Given the description of an element on the screen output the (x, y) to click on. 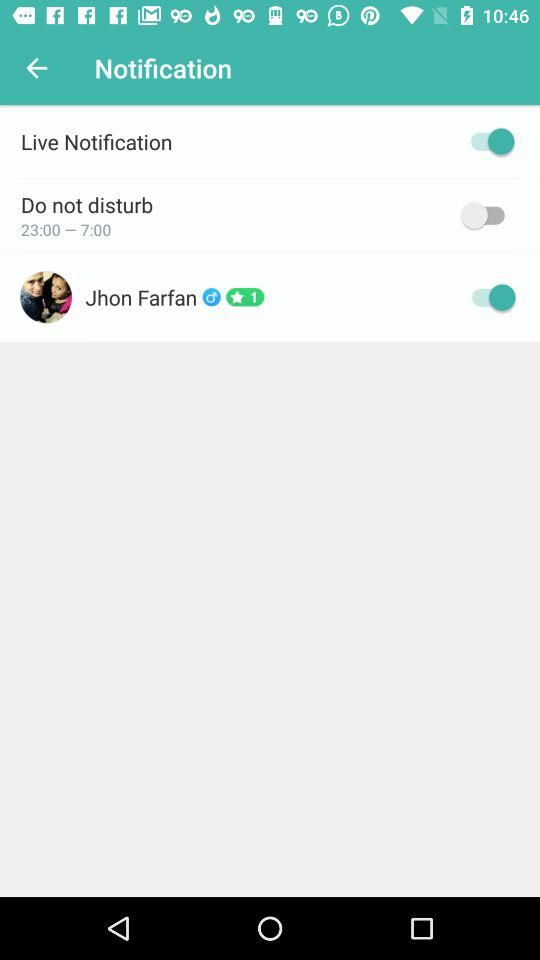
on-off (487, 141)
